Given the description of an element on the screen output the (x, y) to click on. 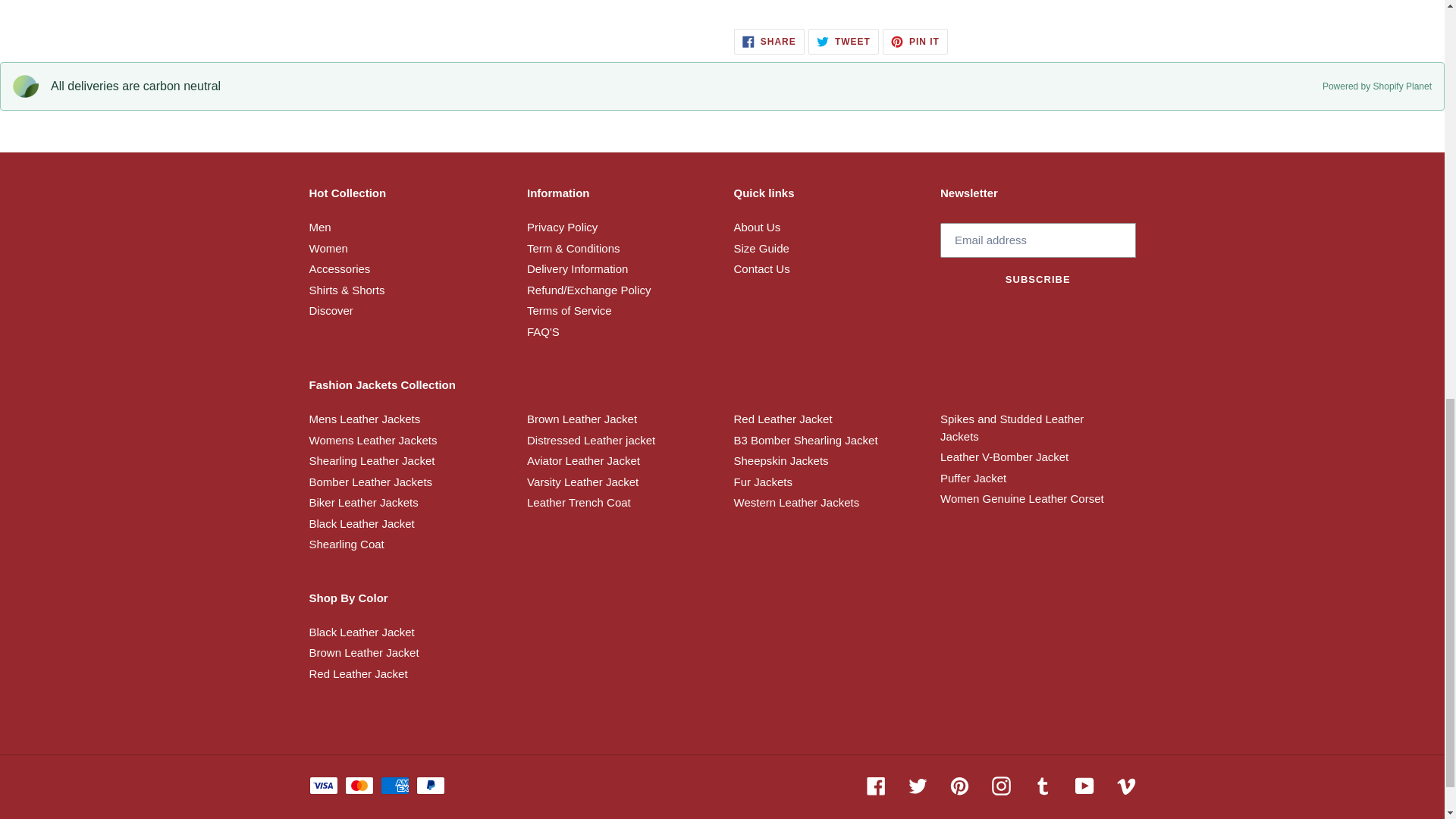
Shearling Leather Jacket (371, 460)
Shearling Coat (346, 543)
Distressed Leather jacket (591, 440)
B3 Bomber Shearling Jacket (805, 440)
Mens Leather Jackets (364, 418)
Black Leather Jacket (361, 522)
Biker Leather Jackets (363, 502)
Fur Jackets (763, 481)
Leather Trench Coat (578, 502)
Aviator Leather Jacket (583, 460)
